Given the description of an element on the screen output the (x, y) to click on. 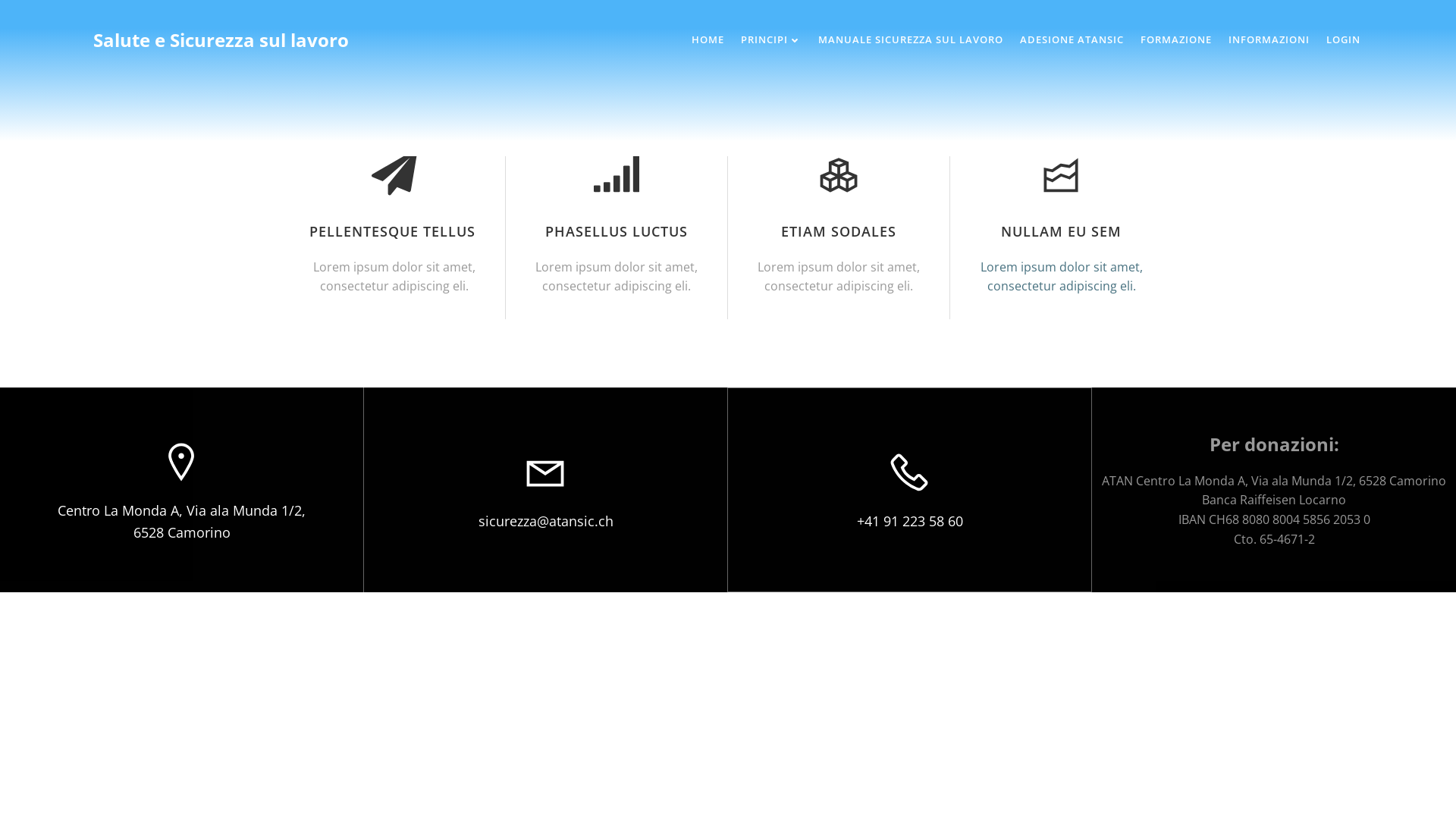
INFORMAZIONI Element type: text (1268, 39)
Salute e Sicurezza sul lavoro Element type: text (220, 39)
HOME Element type: text (707, 39)
FORMAZIONE Element type: text (1175, 39)
PRINCIPI Element type: text (770, 39)
LOGIN Element type: text (1343, 39)
ADESIONE ATANSIC Element type: text (1071, 39)
MANUALE SICUREZZA SUL LAVORO Element type: text (910, 39)
